Given the description of an element on the screen output the (x, y) to click on. 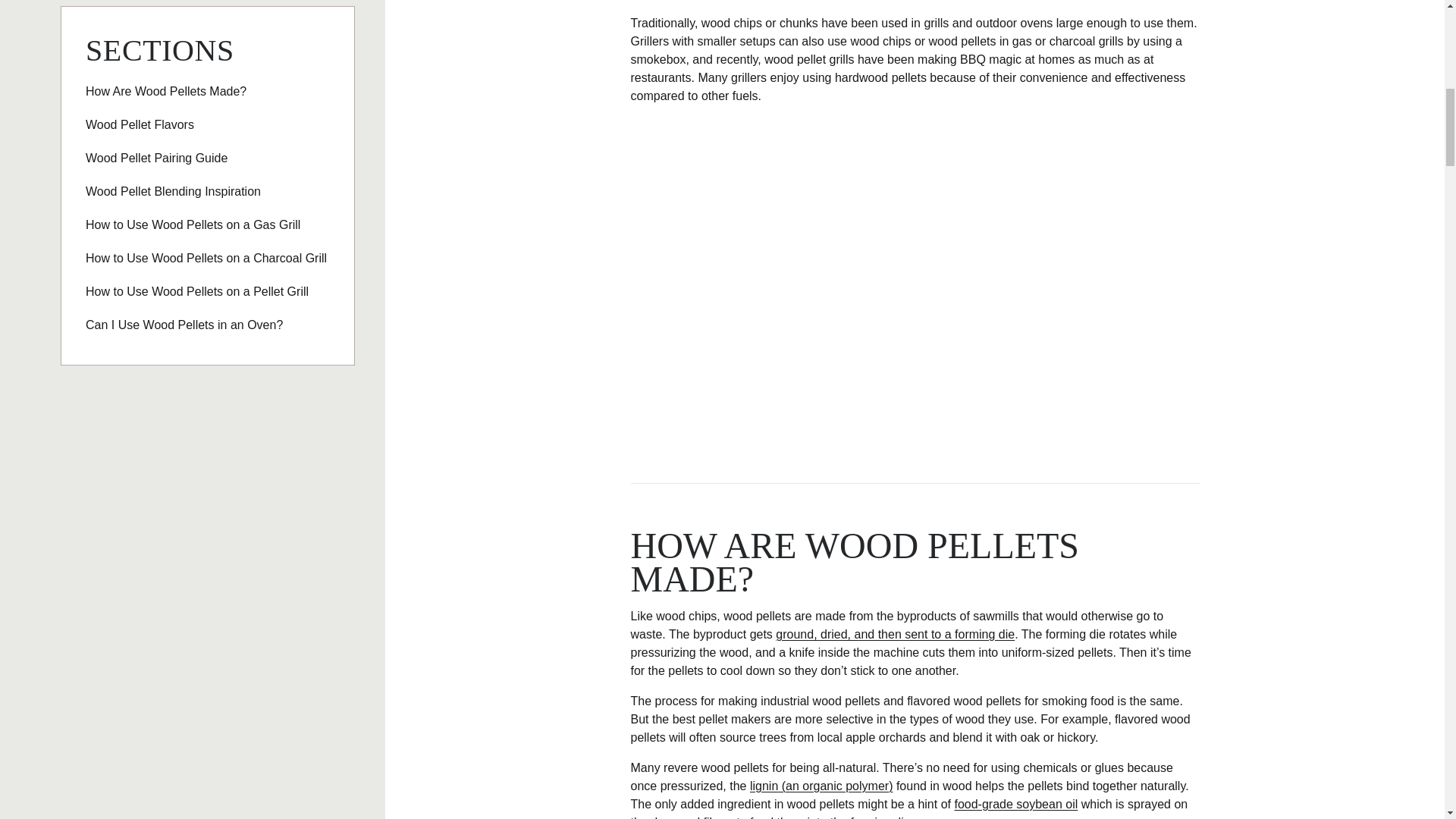
Opens in a new tab (895, 634)
Opens in a new tab (821, 785)
Opens in a new tab (1015, 803)
